Given the description of an element on the screen output the (x, y) to click on. 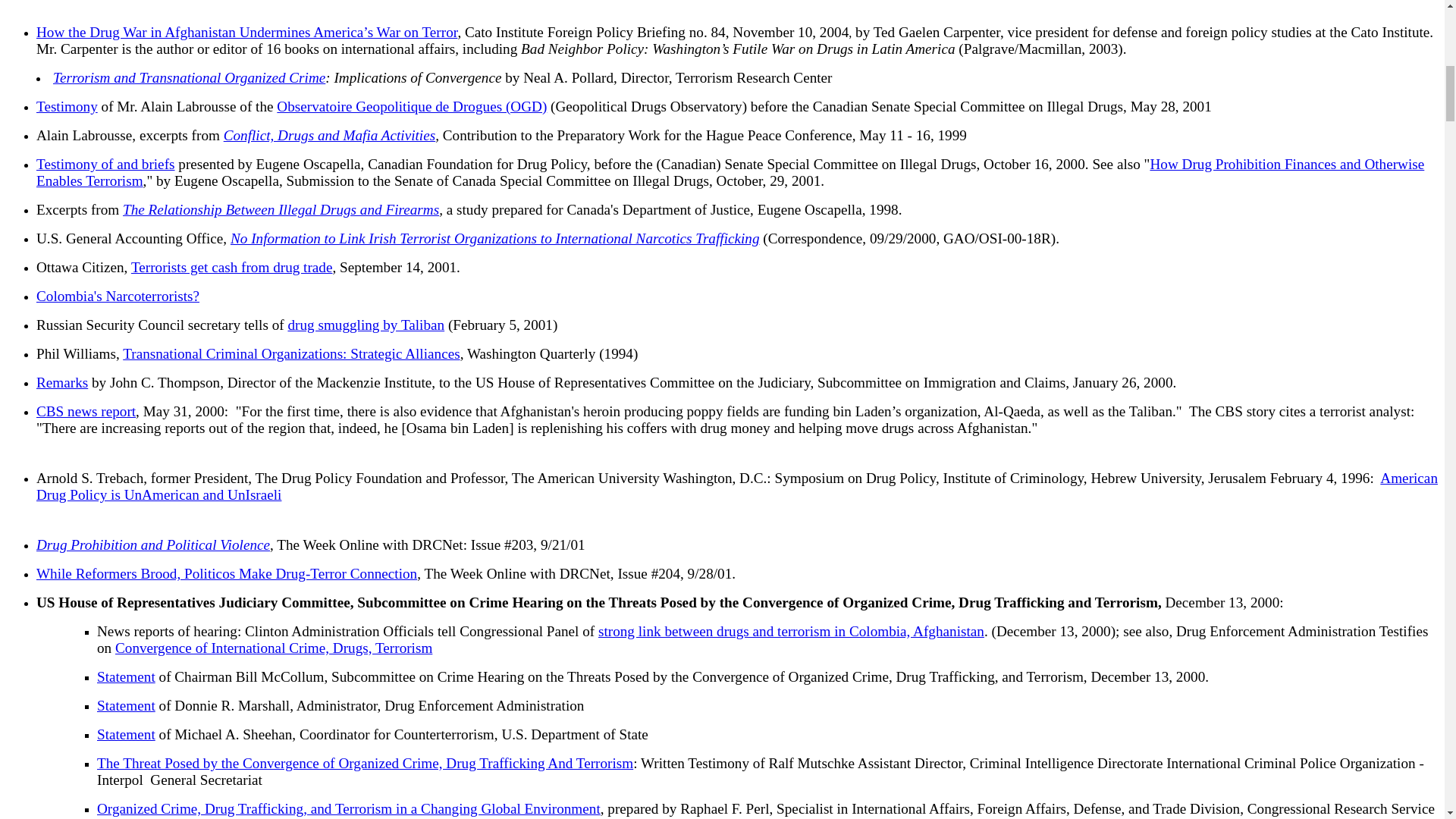
Colombia's Narcoterrorists? (117, 295)
Terrorists get cash from drug trade (232, 267)
Testimony of and briefs (105, 163)
Conflict, Drugs and Mafia Activities (329, 135)
Testimony (66, 106)
Terrorism and Transnational Organized Crime (188, 77)
Transnational Criminal Organizations: Strategic Alliances (291, 353)
CBS news report (85, 411)
The Relationship Between Illegal Drugs and Firearms (280, 209)
